Given the description of an element on the screen output the (x, y) to click on. 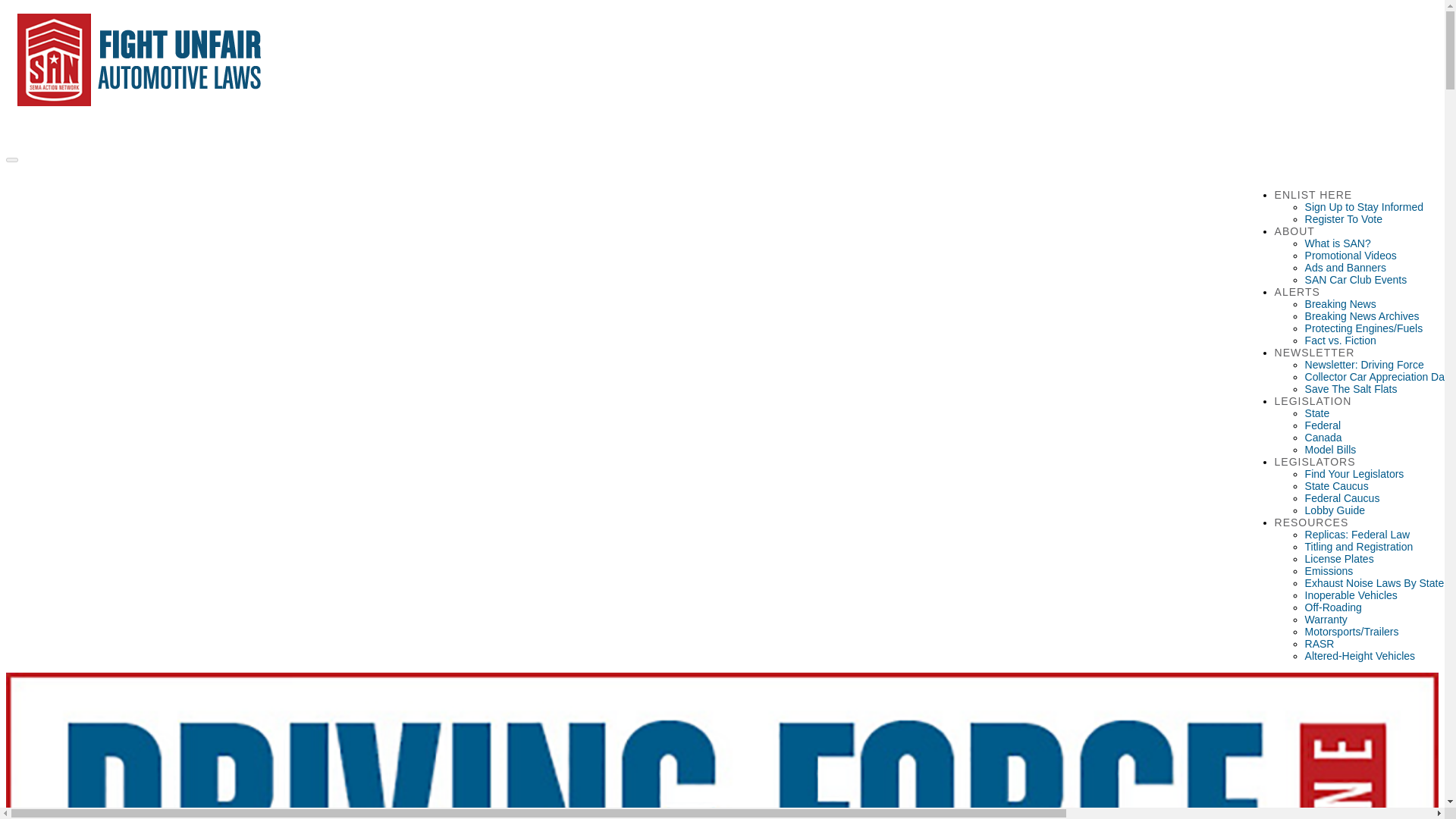
Find Your Legislators (1354, 473)
Register To Vote (1342, 218)
RESOURCES (1312, 522)
Breaking News Archives (1361, 316)
Fact vs. Fiction (1339, 340)
What is SAN? (1337, 243)
Home (134, 110)
Breaking News (1339, 304)
License Plates (1339, 558)
Save The Salt Flats (1350, 388)
LEGISLATION (1313, 400)
SAN Car Club Events (1355, 279)
State (1317, 413)
Toggle navigation (11, 160)
